Given the description of an element on the screen output the (x, y) to click on. 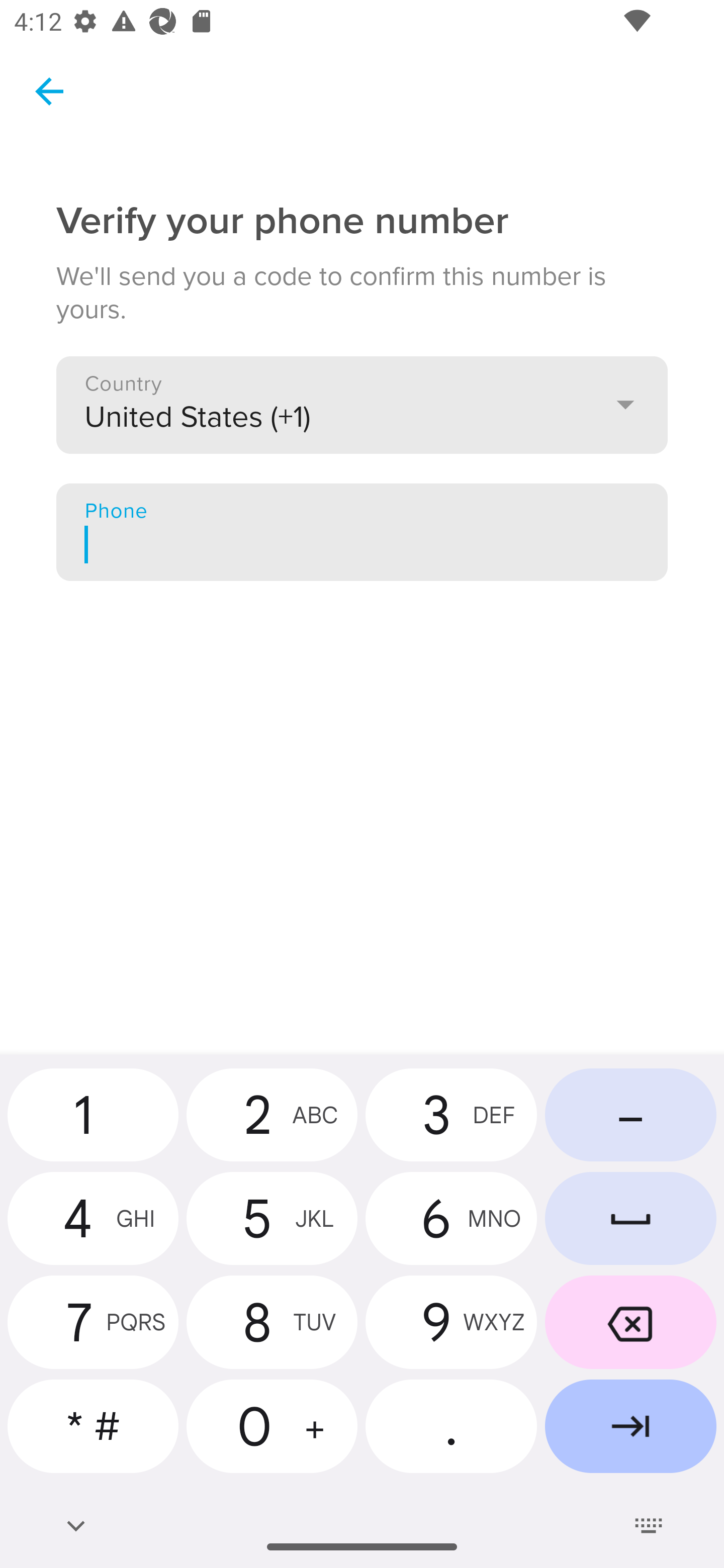
Navigate up (49, 91)
Sign In Sign in and start saving Sign In (361, 231)
United States (+1) (361, 404)
Phone (361, 531)
